Given the description of an element on the screen output the (x, y) to click on. 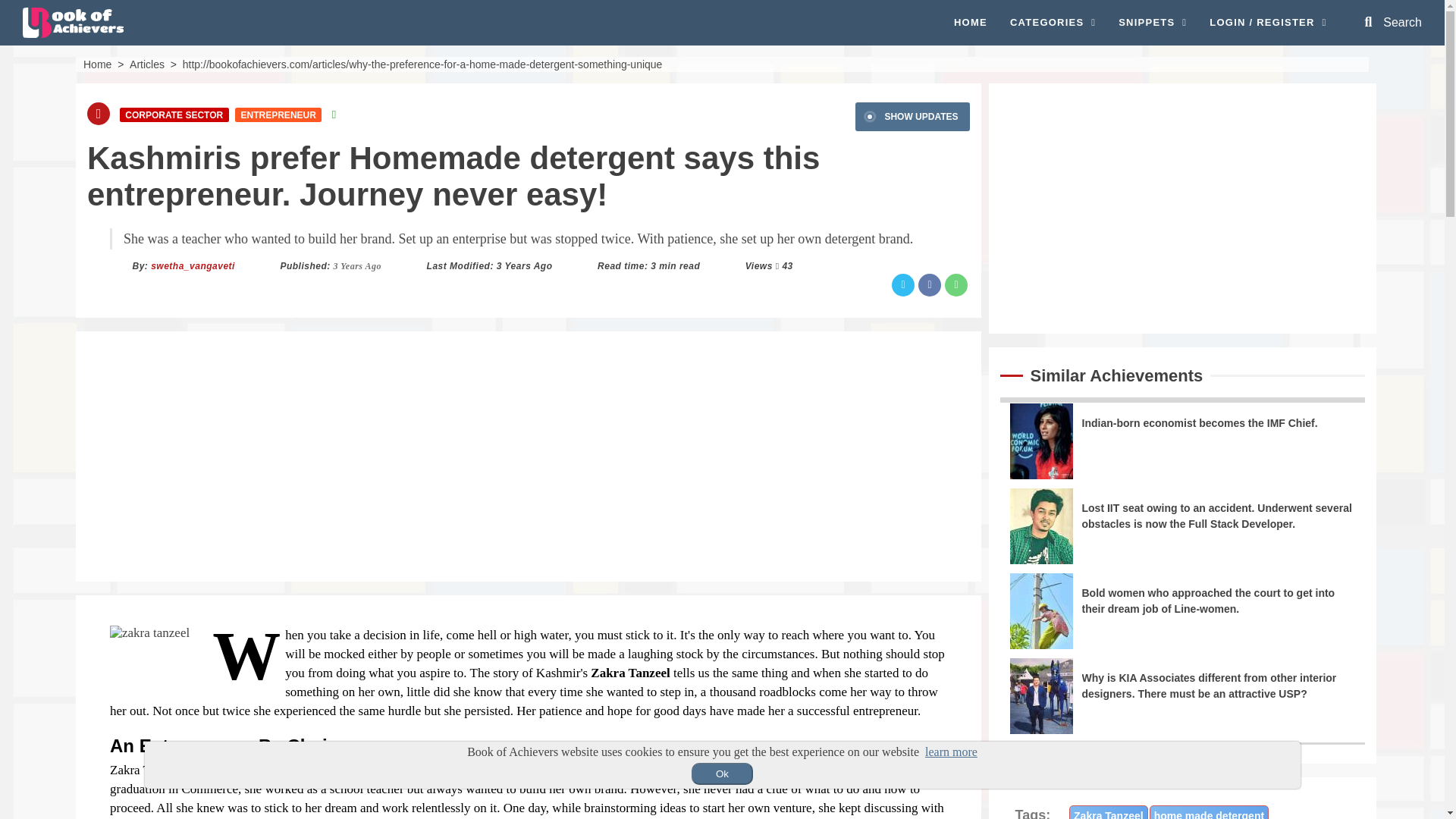
CATEGORIES   (1053, 22)
Home (97, 63)
zakra tanzeel (149, 631)
Share on Whatsapp (956, 284)
Advertisement (1181, 207)
Articles (146, 63)
Search (1393, 22)
Share on Facebook (929, 284)
ENTREPRENEUR (277, 114)
CORPORATE SECTOR (173, 114)
Article Views: 43 (786, 266)
SNIPPETS   (1152, 22)
Share on Twitter (902, 284)
